Given the description of an element on the screen output the (x, y) to click on. 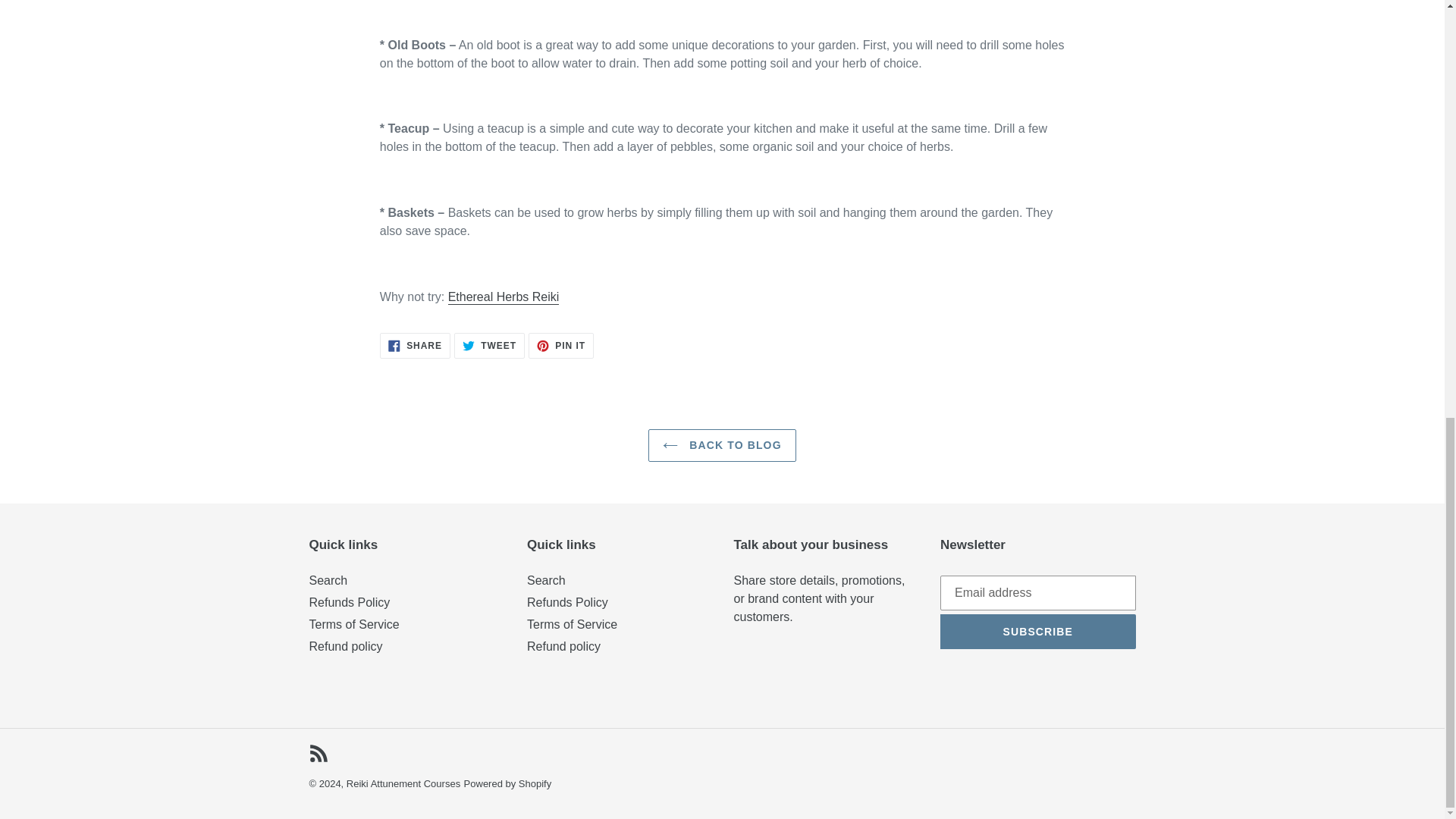
Ethereal herbs reiki (503, 297)
